Given the description of an element on the screen output the (x, y) to click on. 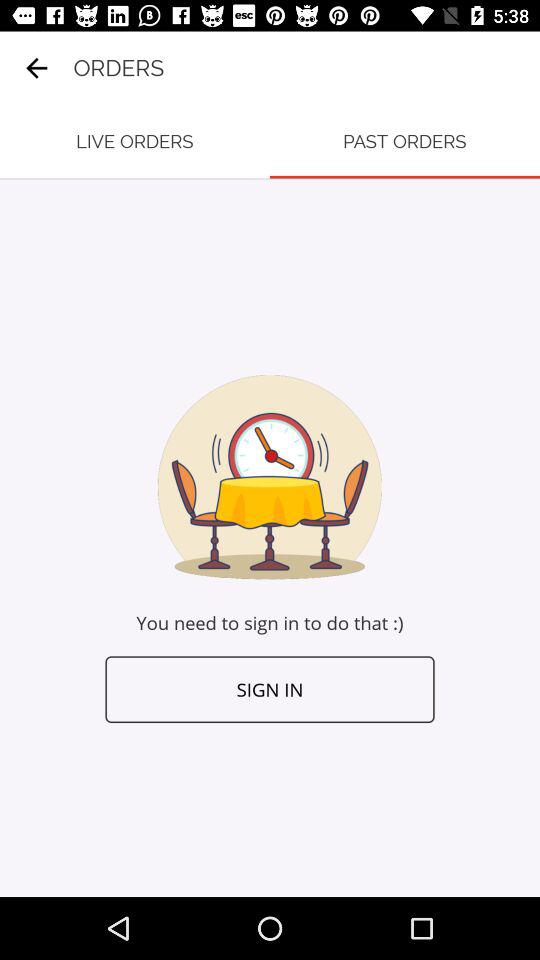
turn on icon above the live orders (36, 68)
